Given the description of an element on the screen output the (x, y) to click on. 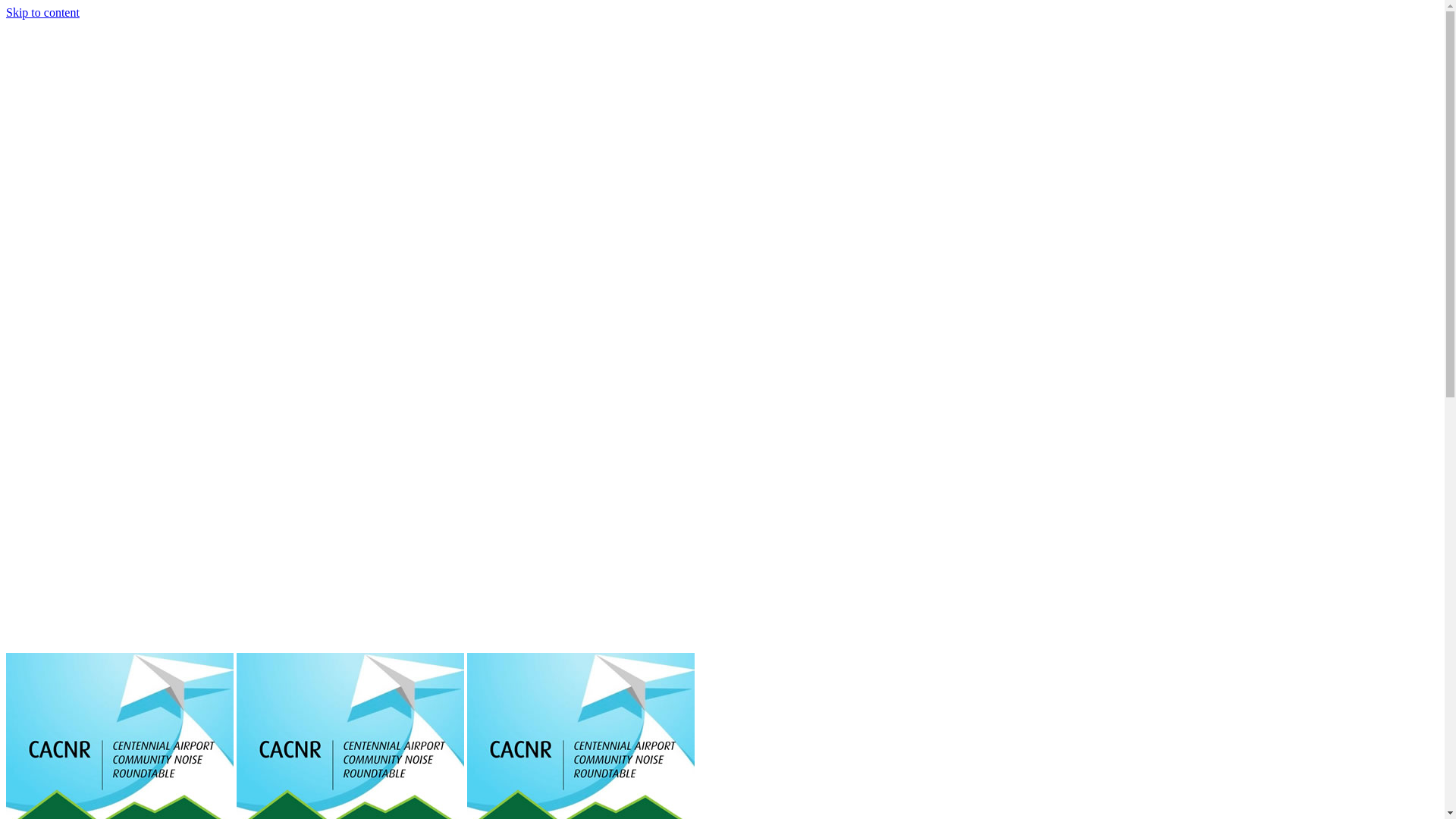
Skip to content (42, 11)
